Given the description of an element on the screen output the (x, y) to click on. 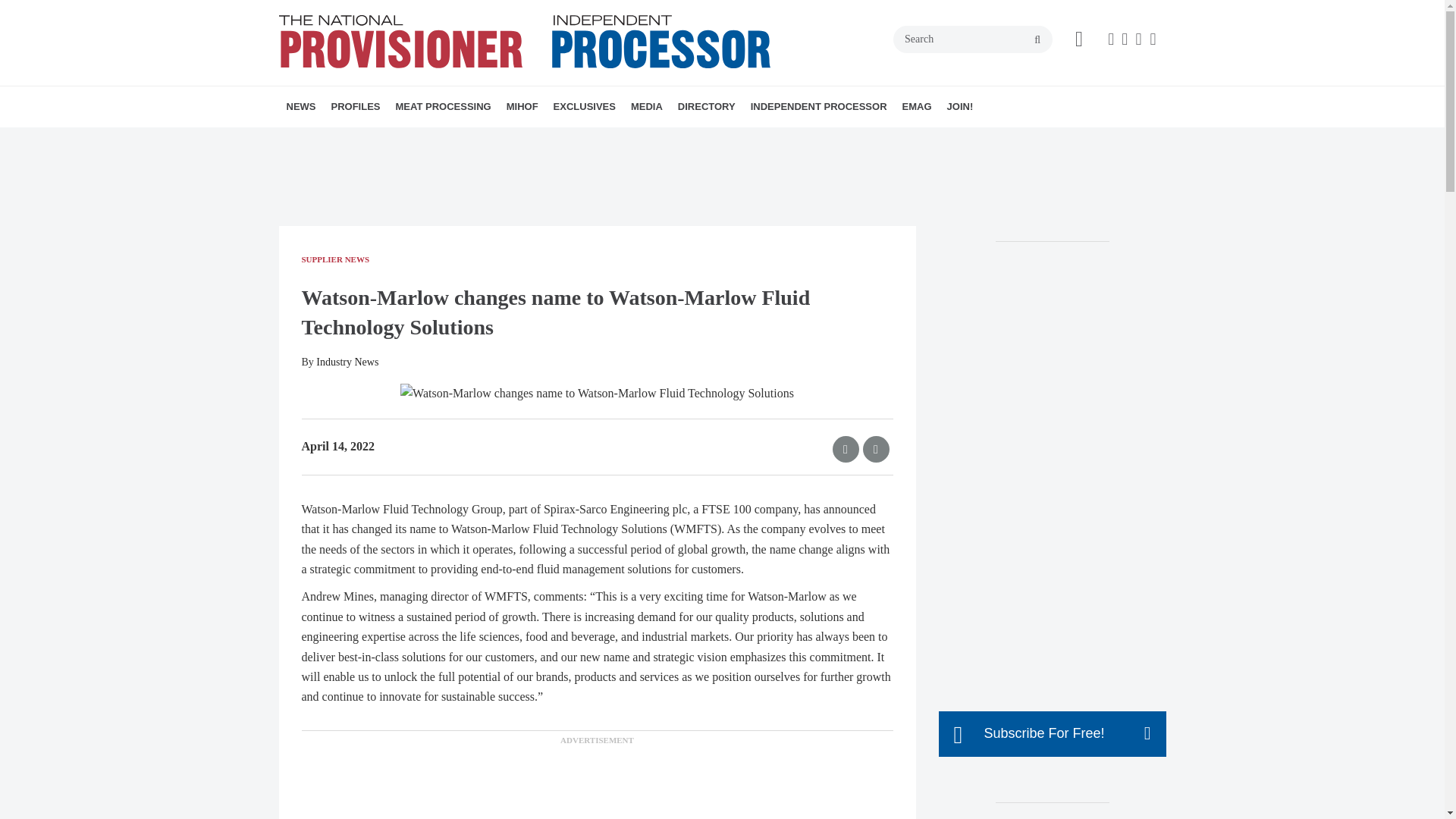
MEAT PROCESSING (443, 106)
PACKAGING (496, 139)
NEW CONSUMER PRODUCTS (400, 139)
EVENTS (647, 139)
Search (972, 39)
INGREDIENTS (500, 139)
EXCLUSIVES (584, 106)
PROFILES (355, 106)
CASE STUDIES (386, 139)
SUSTAINABILITY (483, 139)
RECALLS (391, 139)
REGULATIONS (397, 139)
SPECIAL REPORTS (513, 139)
NEWS (301, 106)
INDUSTRY NEWS (373, 139)
